Given the description of an element on the screen output the (x, y) to click on. 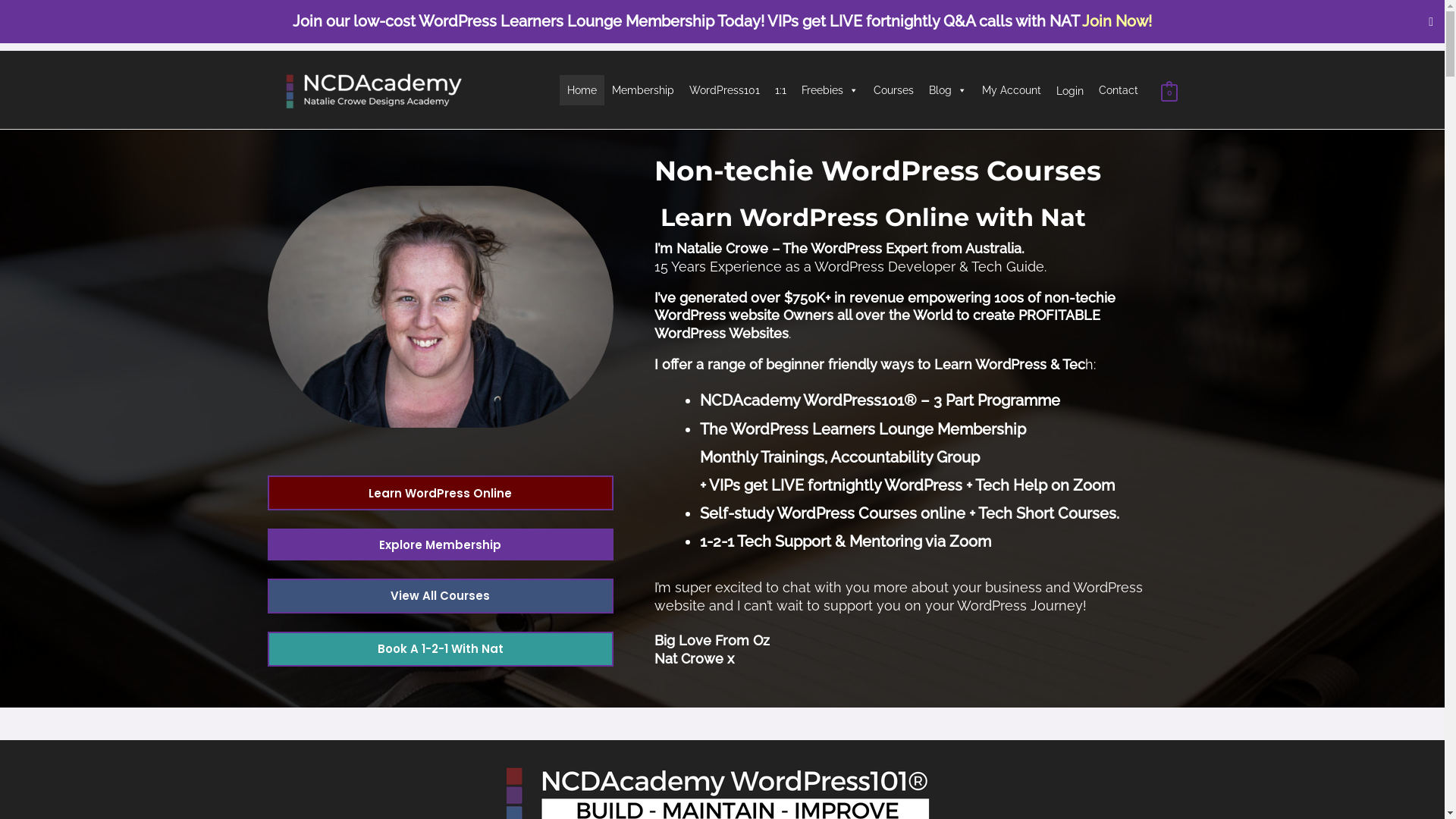
WordPress101 Element type: text (724, 90)
Learn WordPress Online Element type: text (439, 492)
login Element type: text (1069, 90)
0 Element type: text (1169, 90)
Home Element type: text (581, 90)
View All Courses Element type: text (439, 595)
Join Now! Element type: text (1116, 21)
1:1 Element type: text (780, 90)
Freebies Element type: text (829, 90)
My Account Element type: text (1011, 90)
Book A 1-2-1 With Nat Element type: text (439, 648)
Contact Element type: text (1118, 90)
Membership Element type: text (642, 90)
Explore Membership Element type: text (439, 544)
Blog Element type: text (947, 90)
Courses Element type: text (893, 90)
